Given the description of an element on the screen output the (x, y) to click on. 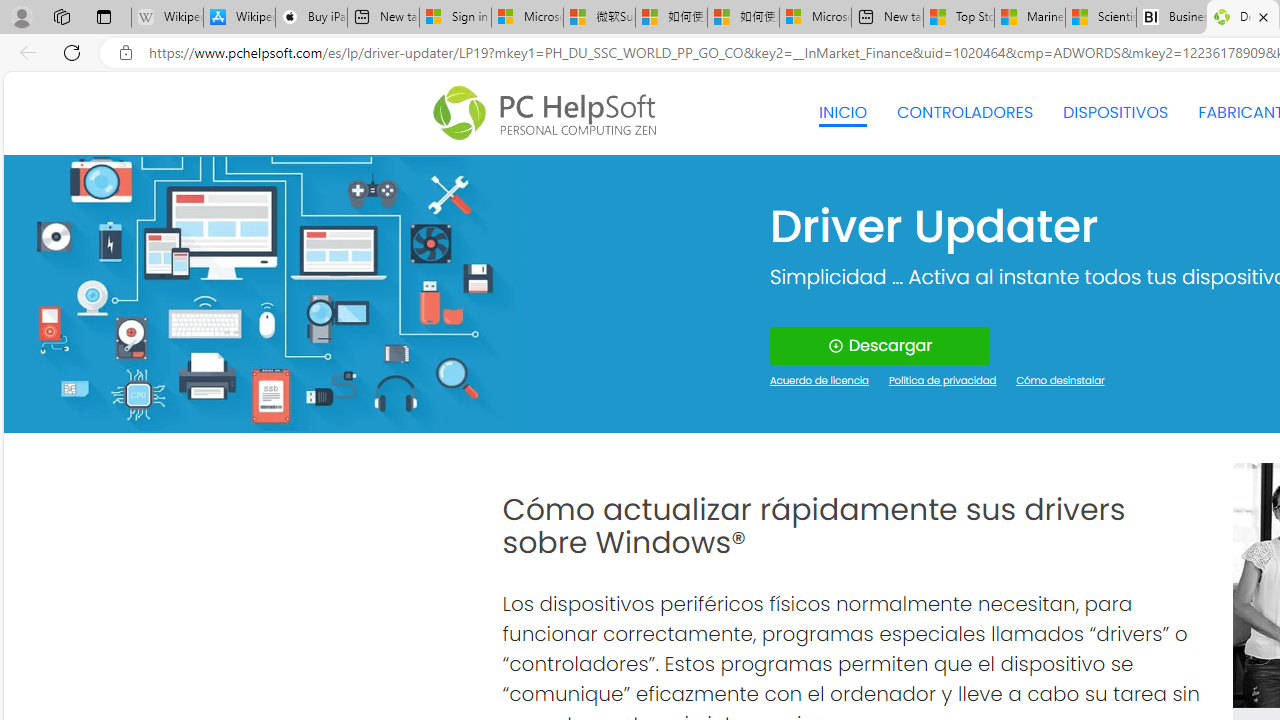
INICIO (842, 112)
INICIO (842, 112)
Download Icon (834, 345)
Buy iPad - Apple (311, 17)
Logo Personal Computing (550, 113)
Marine life - MSN (1029, 17)
